Given the description of an element on the screen output the (x, y) to click on. 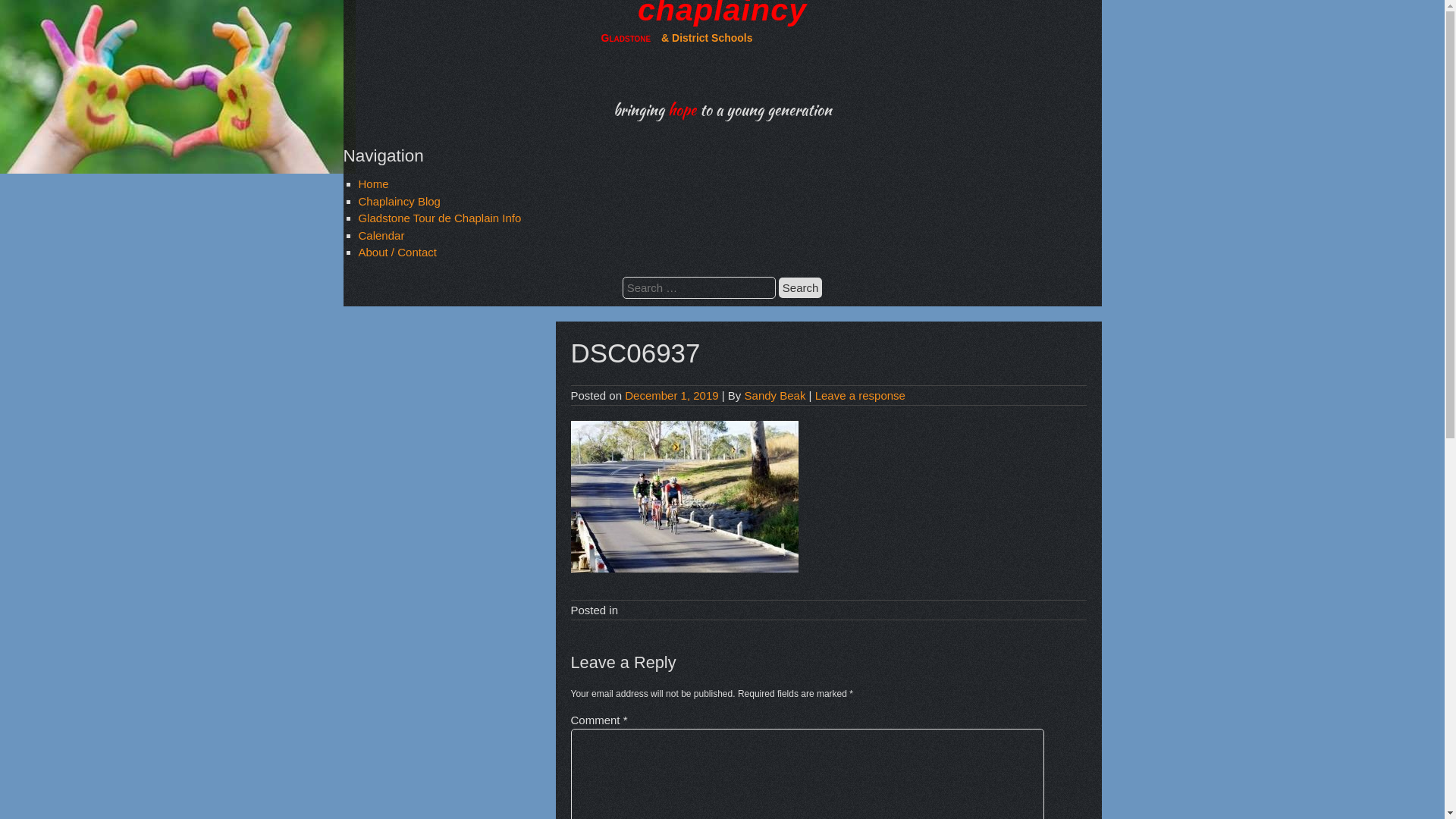
Leave a response Element type: text (860, 395)
Sandy Beak Element type: text (775, 395)
Gladstone Tour de Chaplain Info Element type: text (438, 217)
Search Element type: text (800, 287)
About / Contact Element type: text (396, 251)
Calendar Element type: text (380, 235)
Home Element type: text (372, 183)
Chaplaincy Blog Element type: text (398, 200)
December 1, 2019 Element type: text (671, 395)
